Given the description of an element on the screen output the (x, y) to click on. 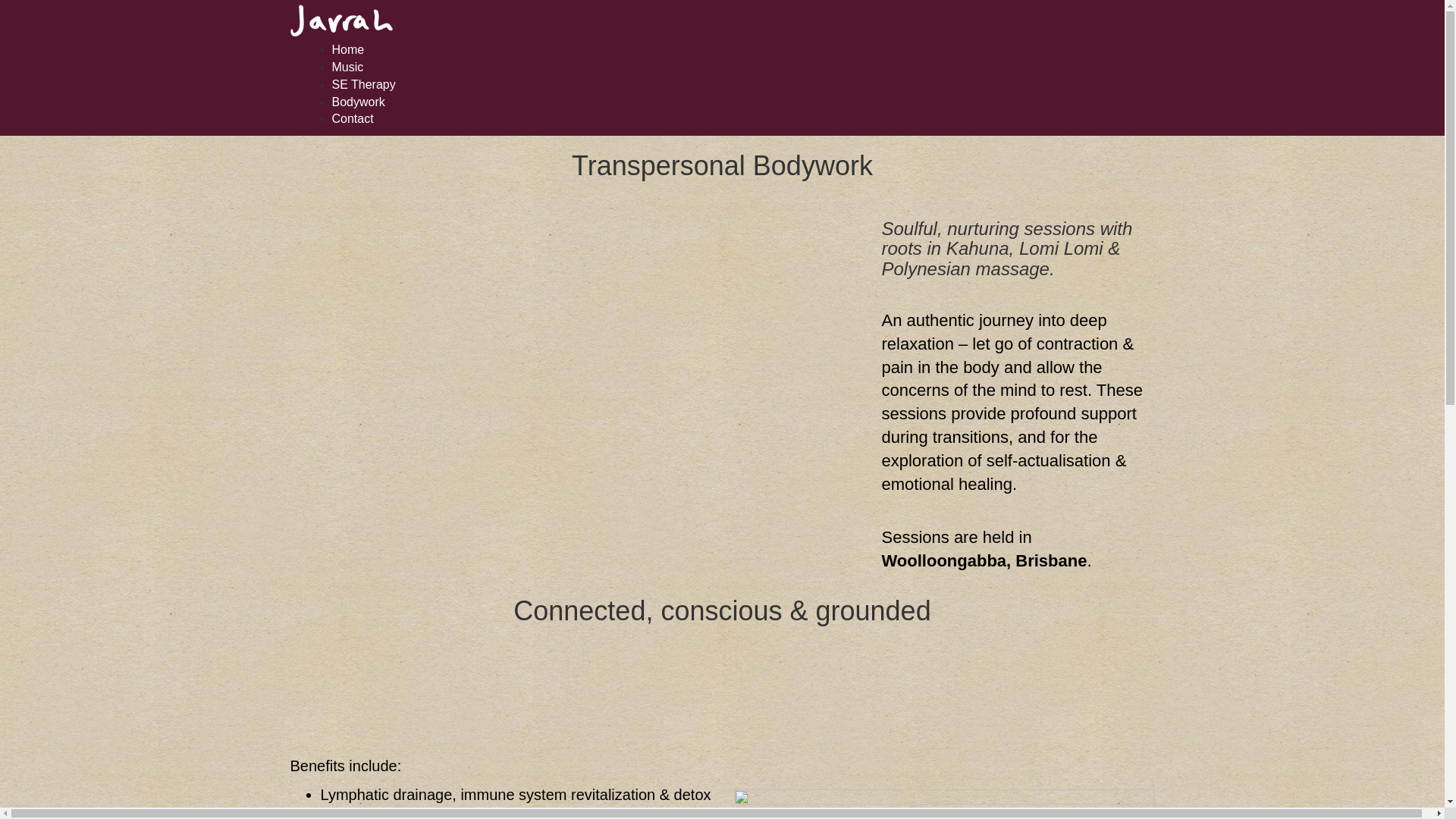
Music Element type: text (348, 66)
SE Therapy Element type: text (363, 84)
Bodywork Element type: text (358, 101)
Contact Element type: text (352, 118)
Home Element type: text (348, 49)
